Given the description of an element on the screen output the (x, y) to click on. 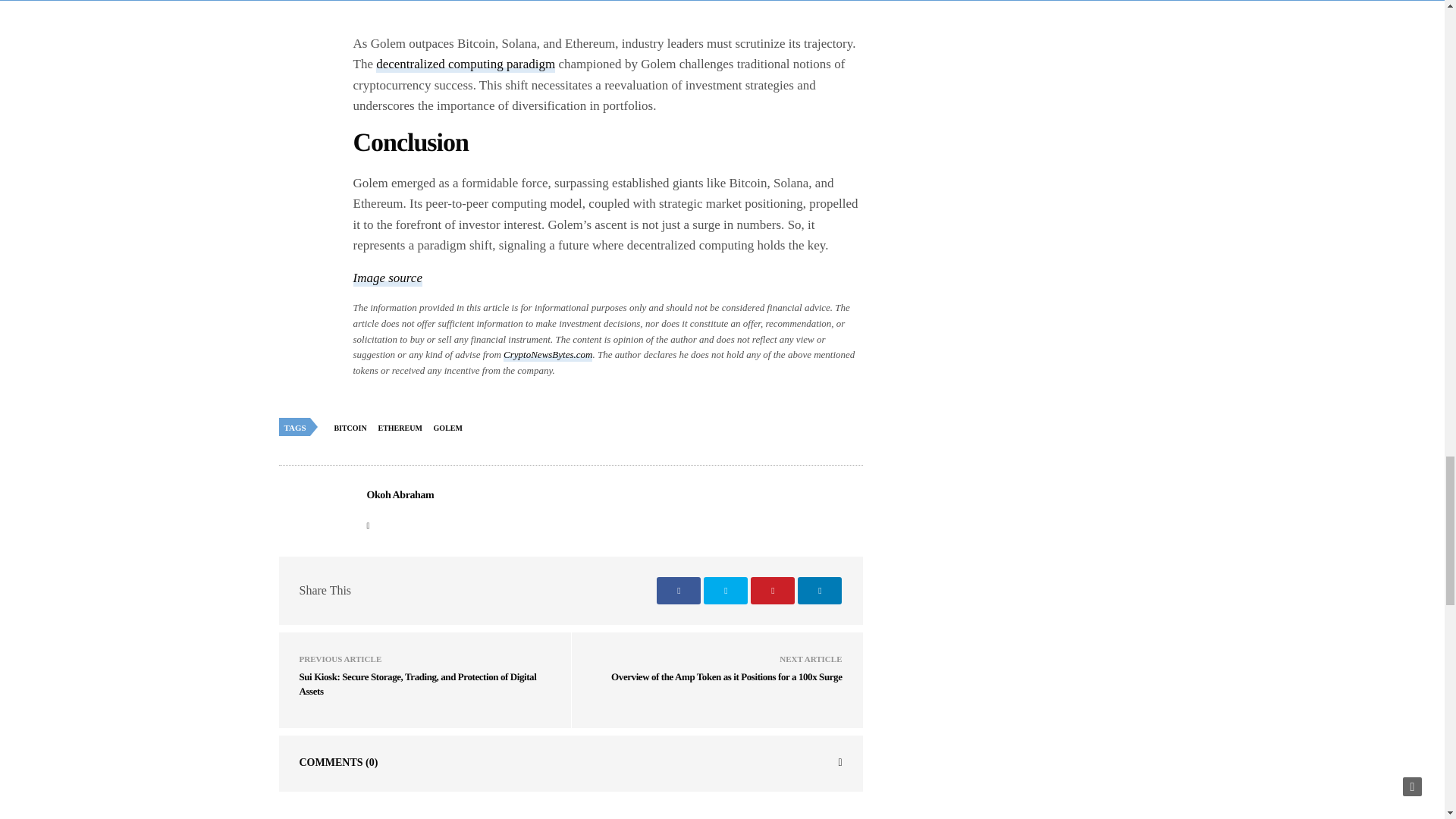
Advertisement (608, 16)
